Given the description of an element on the screen output the (x, y) to click on. 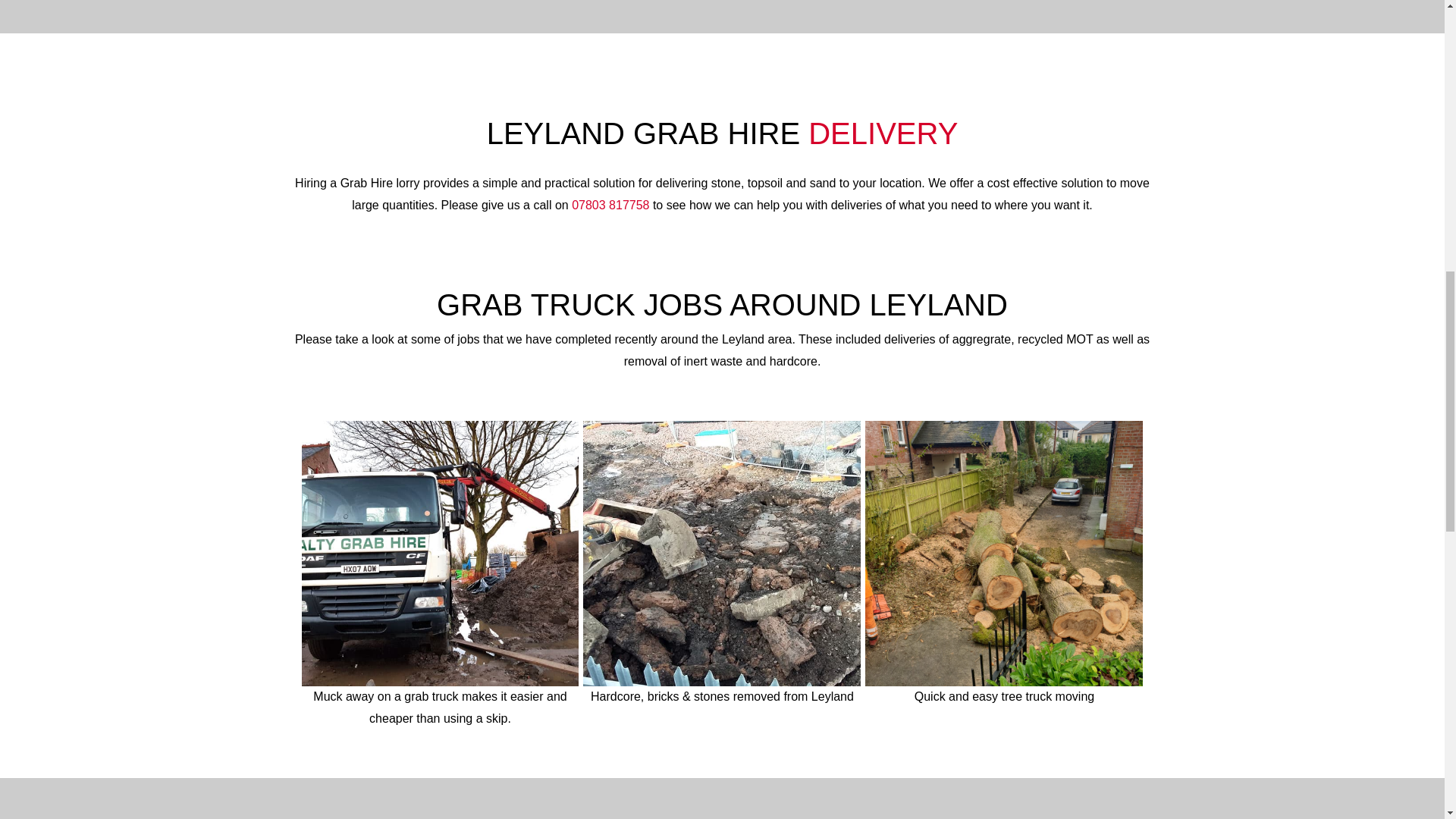
07803 817758 (610, 205)
